Given the description of an element on the screen output the (x, y) to click on. 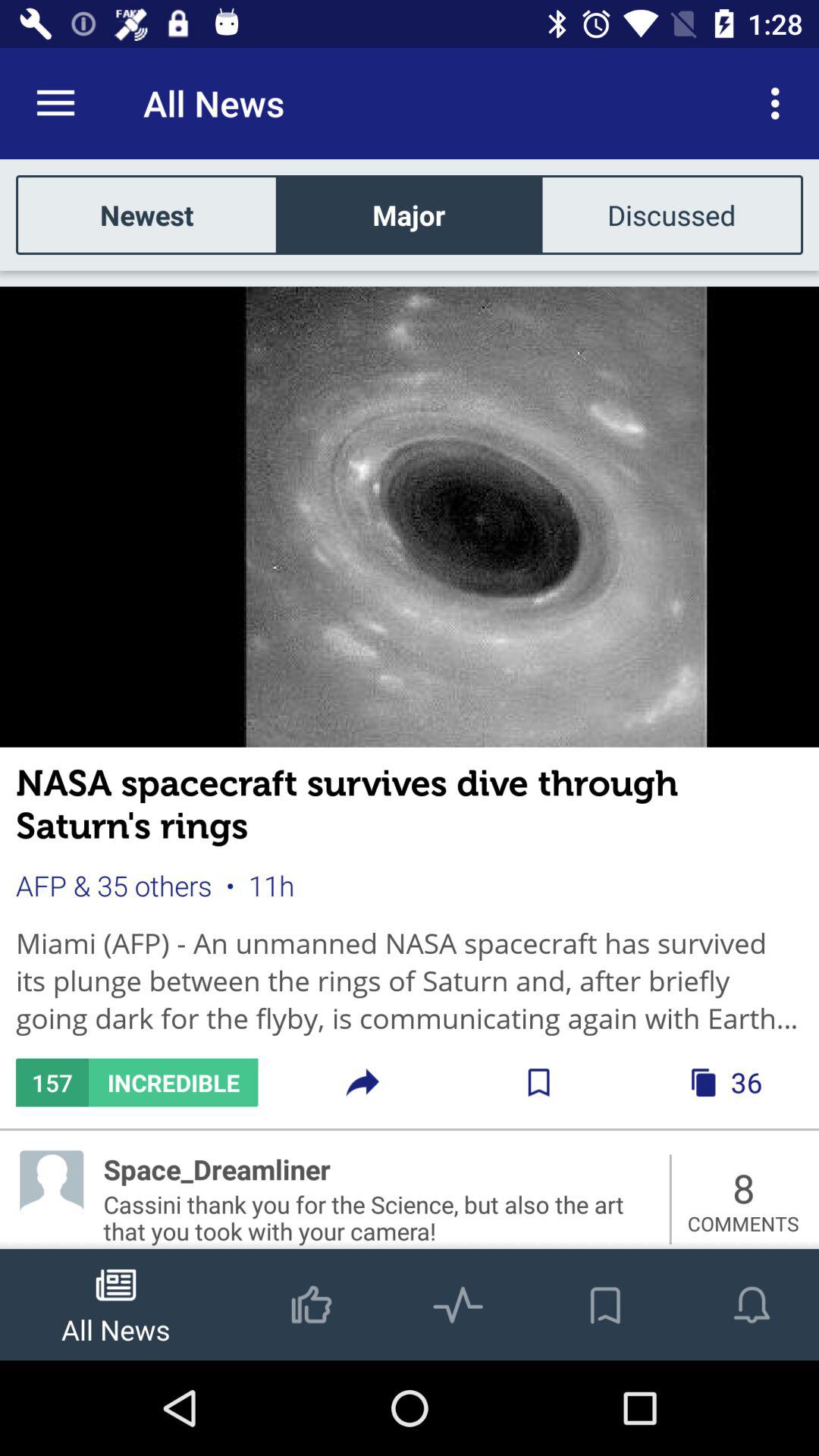
click on newest which is beside major (146, 214)
click on three vertical dots (779, 103)
click on the image beside spacedreamliner (51, 1182)
click on the third icon at the bottom (458, 1289)
click on share icon next to incredible (362, 1082)
